Given the description of an element on the screen output the (x, y) to click on. 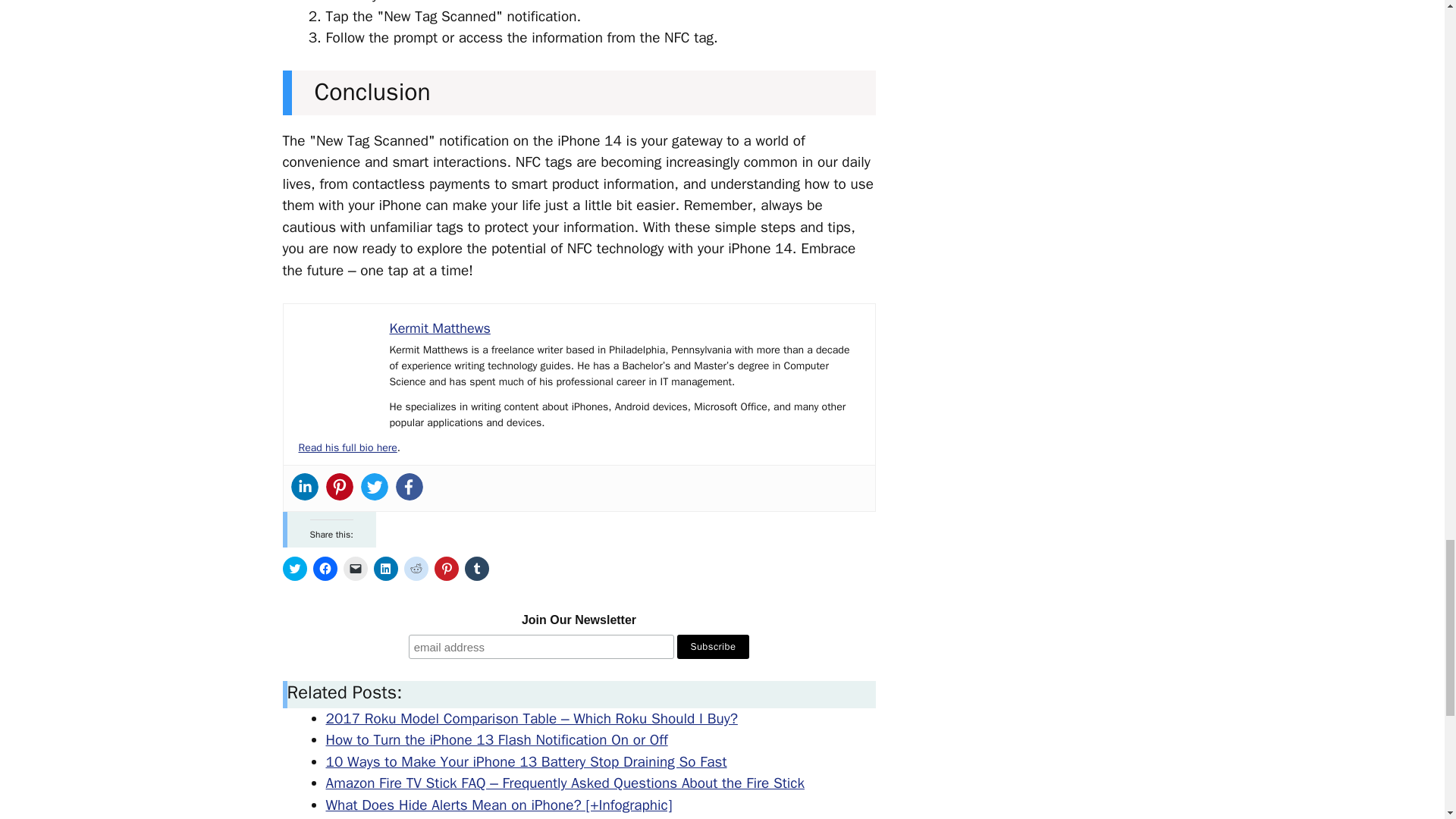
Subscribe (713, 646)
Read his full bio here (347, 447)
How to Turn the iPhone 13 Flash Notification On or Off (497, 740)
10 Ways to Make Your iPhone 13 Battery Stop Draining So Fast (526, 761)
Subscribe (713, 646)
Kermit Matthews (440, 328)
